Given the description of an element on the screen output the (x, y) to click on. 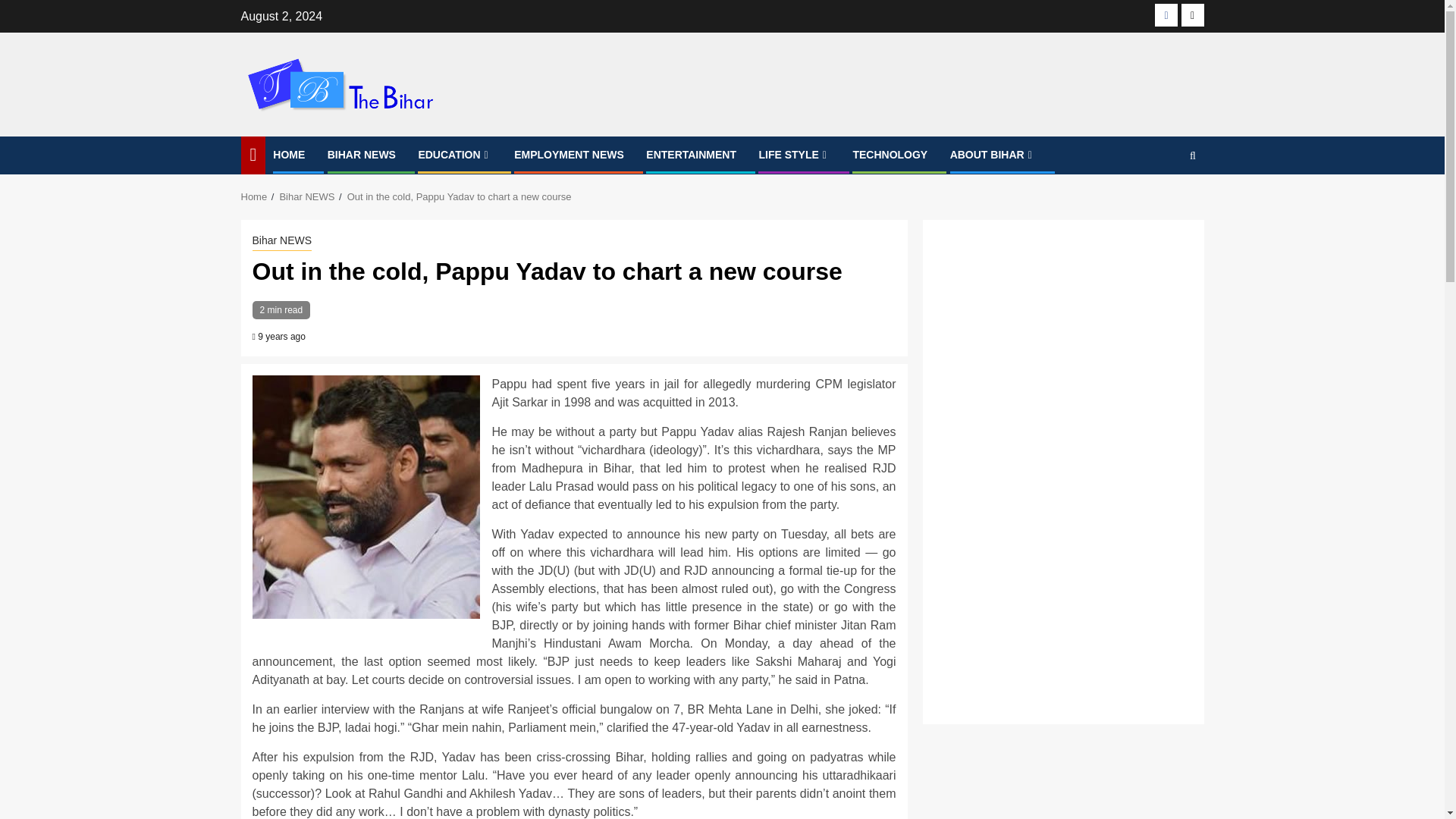
Out in the cold, Pappu Yadav to chart a new course (459, 196)
Twitter (1192, 15)
LIFE STYLE (793, 154)
Bihar NEWS (306, 196)
Facebook (1165, 15)
Search (1163, 201)
HOME (288, 154)
ENTERTAINMENT (691, 154)
Home (254, 196)
Bihar NEWS (281, 240)
TECHNOLOGY (889, 154)
BIHAR NEWS (361, 154)
EDUCATION (454, 154)
ABOUT BIHAR (992, 154)
EMPLOYMENT NEWS (568, 154)
